Given the description of an element on the screen output the (x, y) to click on. 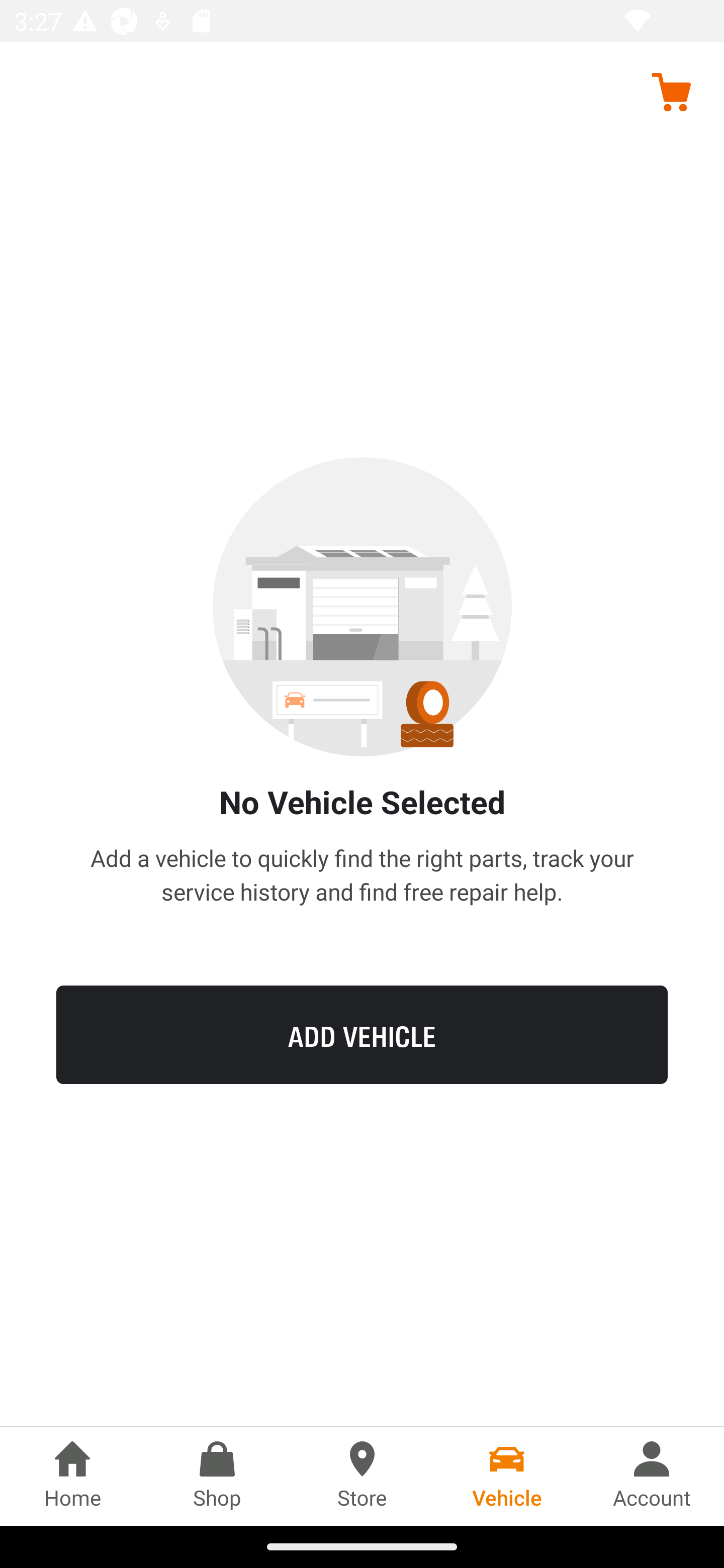
Cart, no items  (670, 91)
ADD VEHICLE (361, 1034)
Home (72, 1475)
Shop (216, 1475)
Store (361, 1475)
Vehicle (506, 1475)
Account (651, 1475)
